Given the description of an element on the screen output the (x, y) to click on. 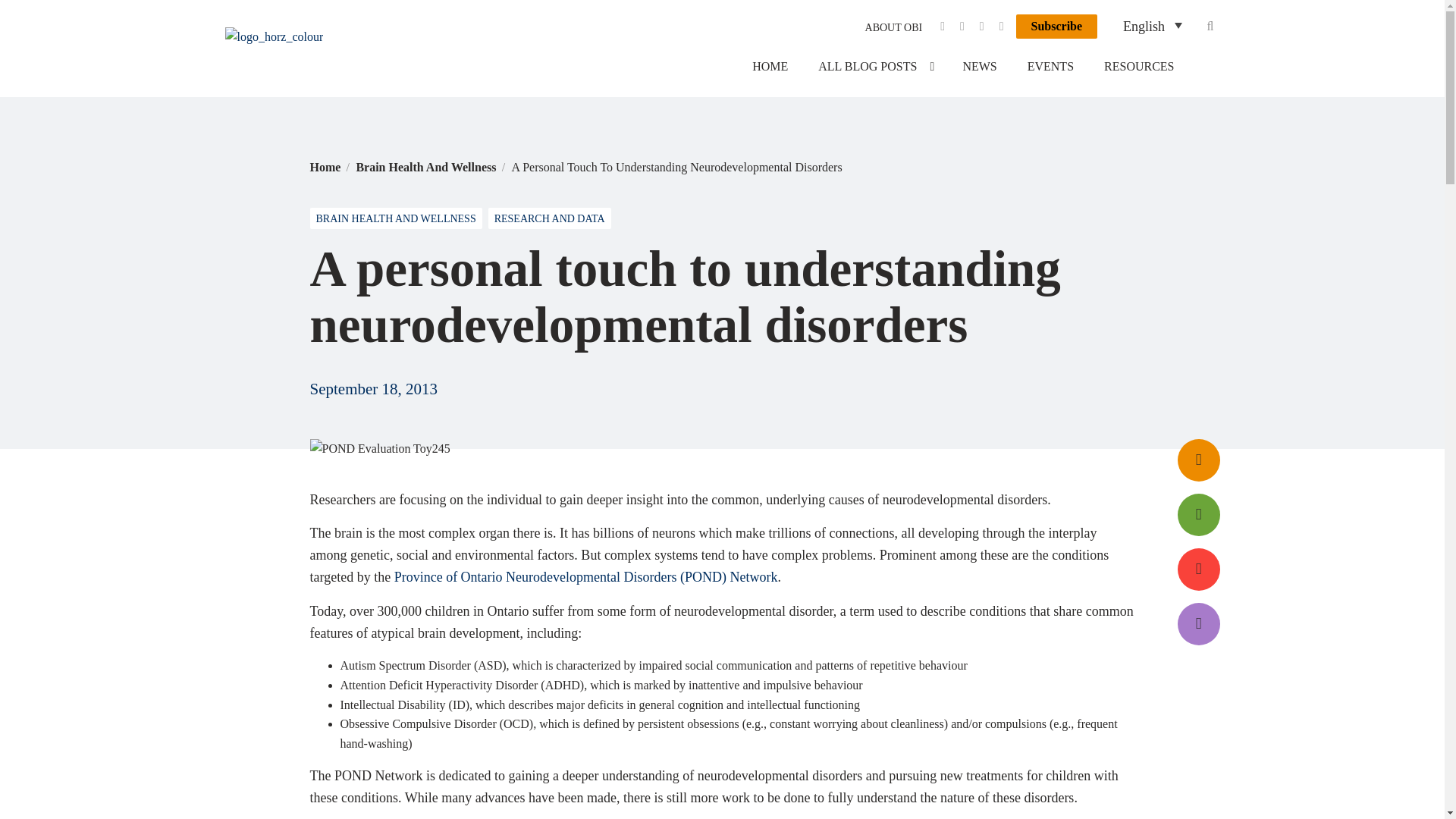
English (1152, 26)
Home (769, 66)
Home (324, 166)
ALL BLOG POSTS (875, 66)
About OBI (893, 26)
Events (1050, 66)
All Blog Posts (875, 66)
RESOURCES (1139, 66)
Subscribe (1056, 26)
News (979, 66)
EVENTS (1050, 66)
ABOUT OBI (893, 26)
NEWS (979, 66)
HOME (769, 66)
Brain Health And Wellness (427, 166)
